Given the description of an element on the screen output the (x, y) to click on. 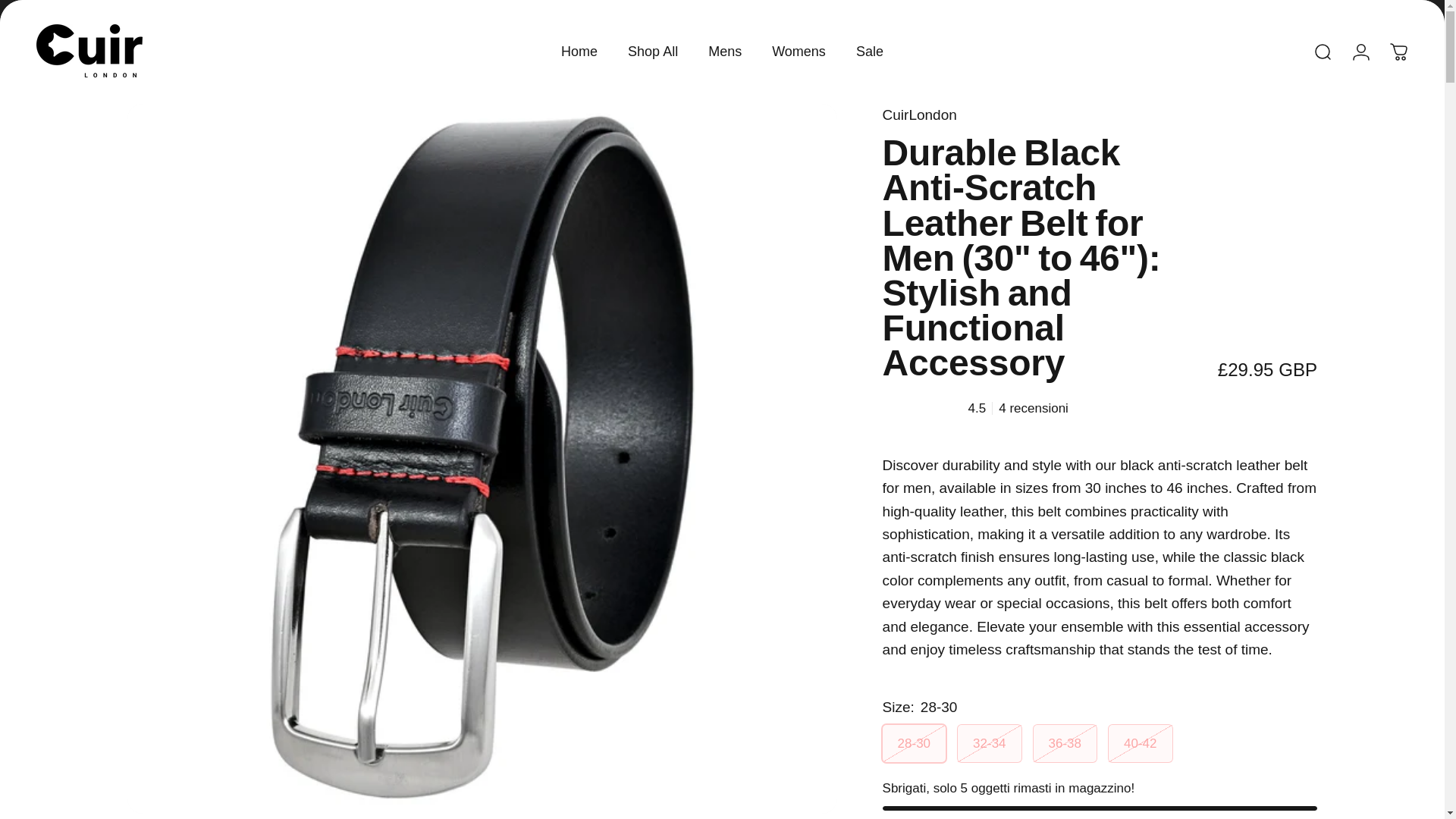
CuirLondon su Facebook (43, 7)
40-42 (1140, 743)
CuirLondon su Pinterest (143, 7)
Instagram (76, 7)
CuirLondon (919, 114)
Home (579, 51)
